Given the description of an element on the screen output the (x, y) to click on. 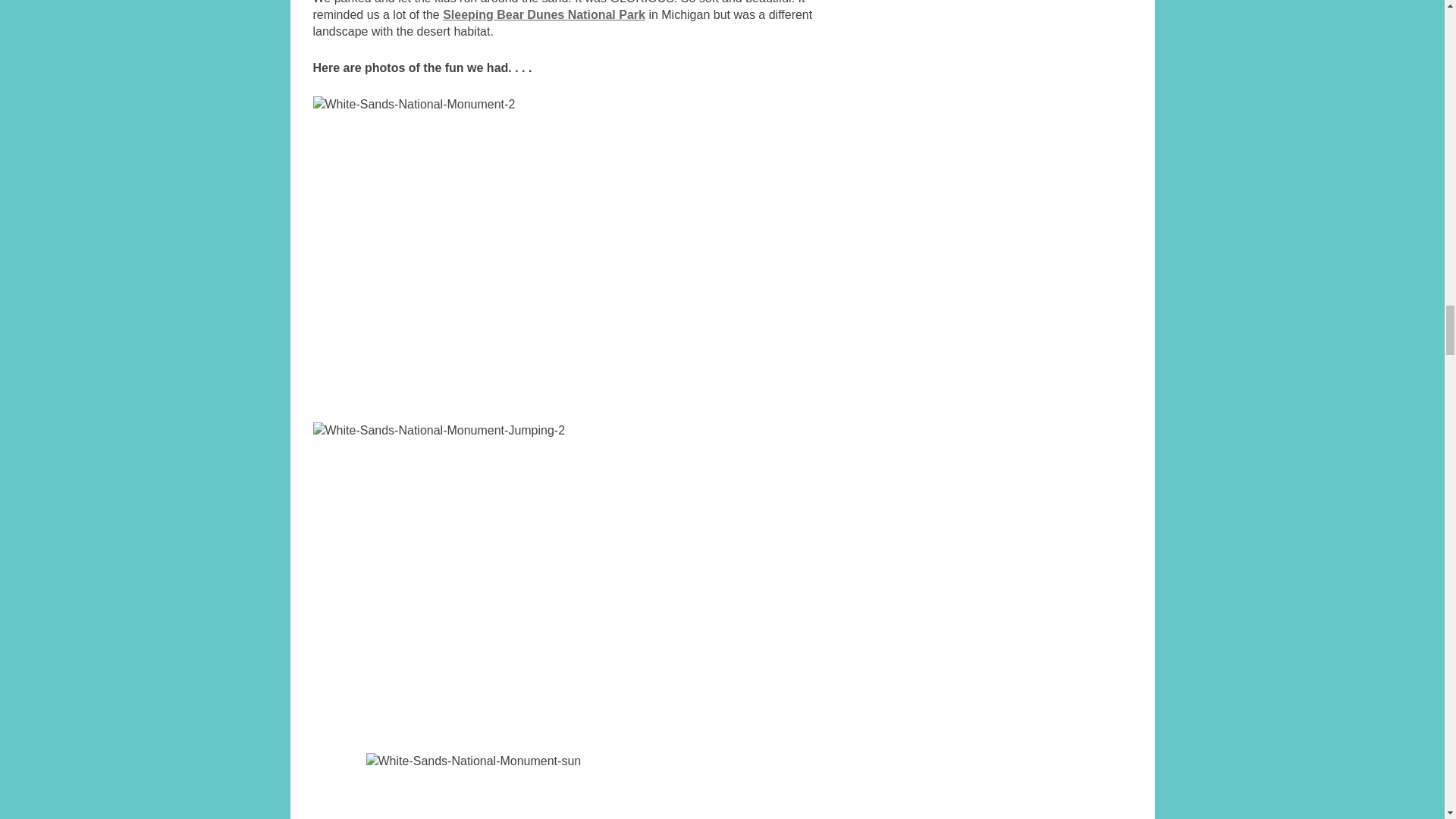
Sleeping Bear Dunes National Park (543, 14)
